Given the description of an element on the screen output the (x, y) to click on. 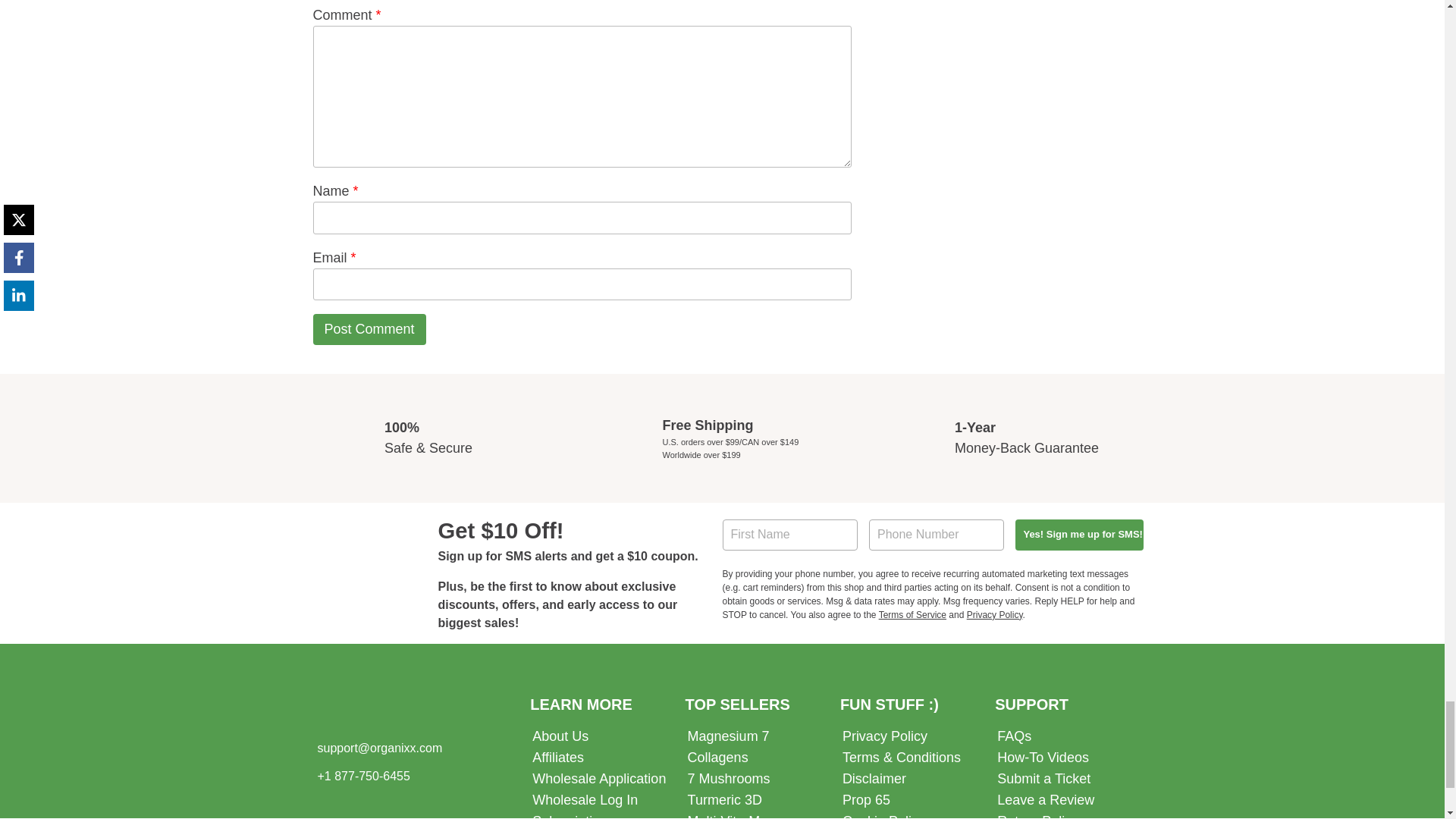
Yes! Sign me up for SMS! (1078, 534)
Post Comment (369, 328)
